Given the description of an element on the screen output the (x, y) to click on. 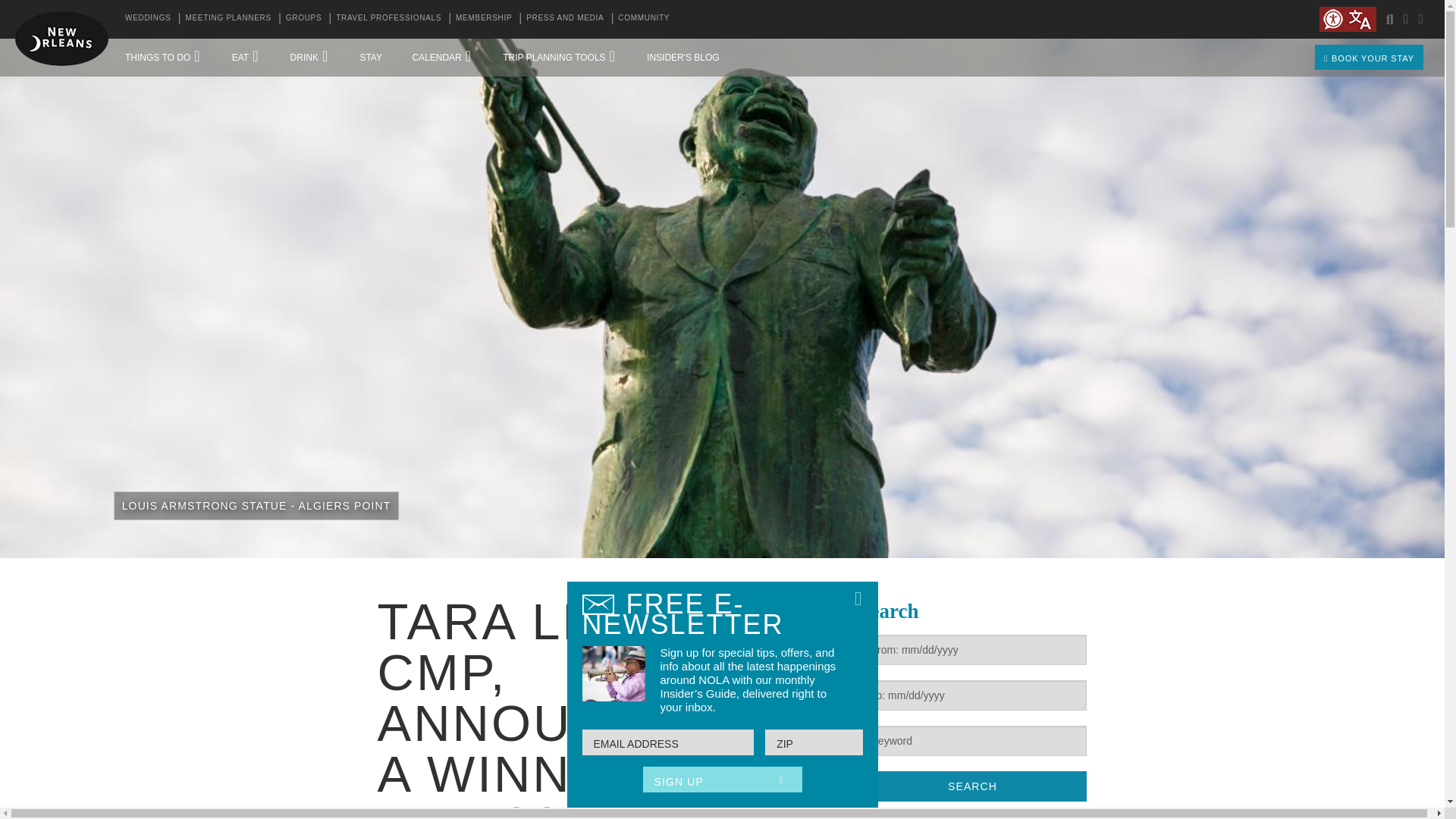
Community (643, 18)
MEMBERSHIP (483, 18)
GROUPS (303, 18)
MEETING PLANNERS (227, 18)
COMMUNITY (643, 18)
Travel Professionals (388, 18)
WEDDINGS (148, 18)
ENews Signup (1425, 18)
TRAVEL PROFESSIONALS (388, 18)
Book Your Stay (1323, 57)
Trip Planner (1410, 18)
PRESS AND MEDIA (564, 18)
Groups (303, 18)
Press and Media (564, 18)
Meeting Planners (227, 18)
